Given the description of an element on the screen output the (x, y) to click on. 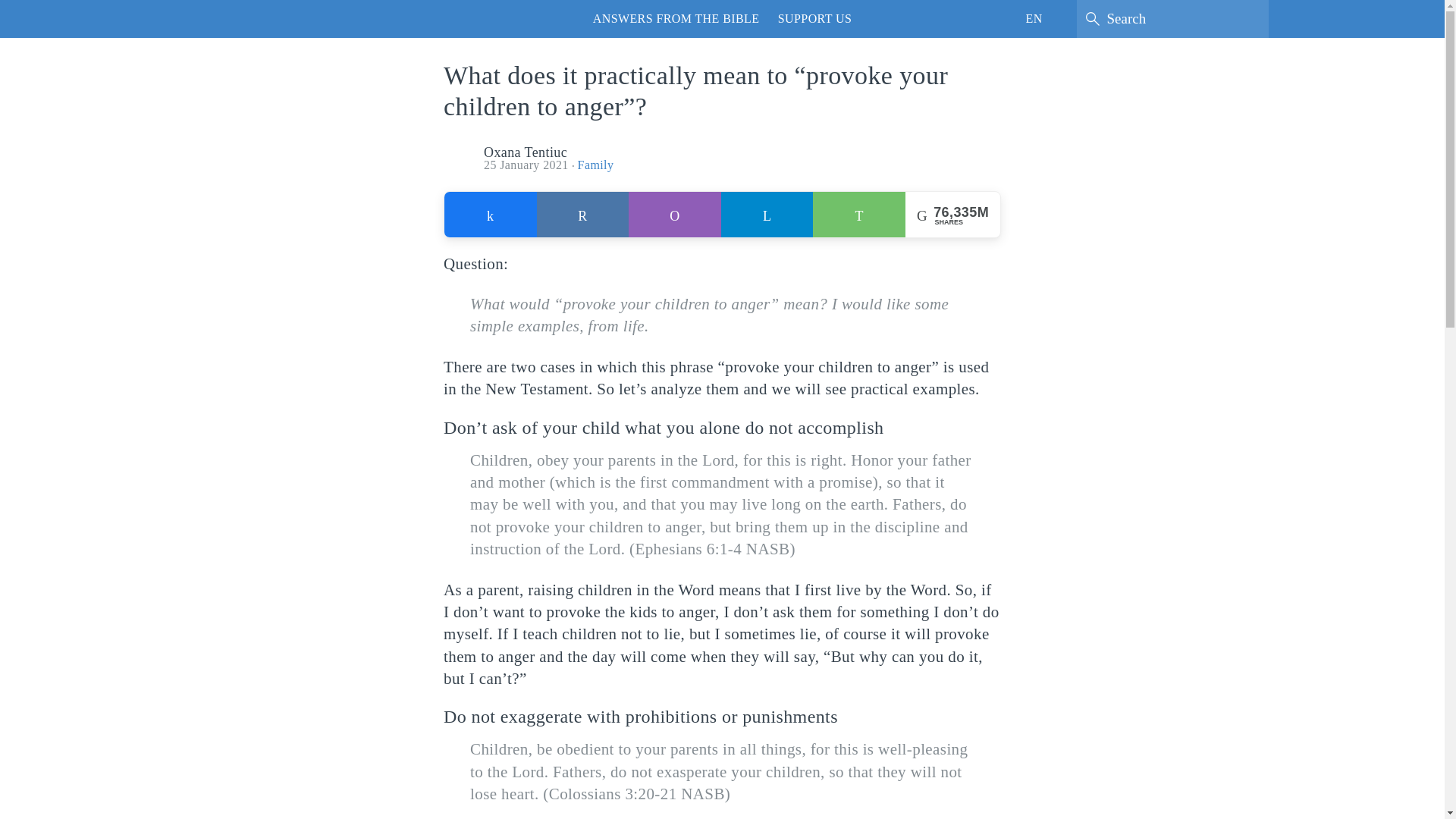
Family (596, 164)
76,335M (582, 214)
Oxana Tentiuc (525, 151)
SUPPORT US (814, 18)
ANSWERS FROM THE BIBLE (676, 18)
